Given the description of an element on the screen output the (x, y) to click on. 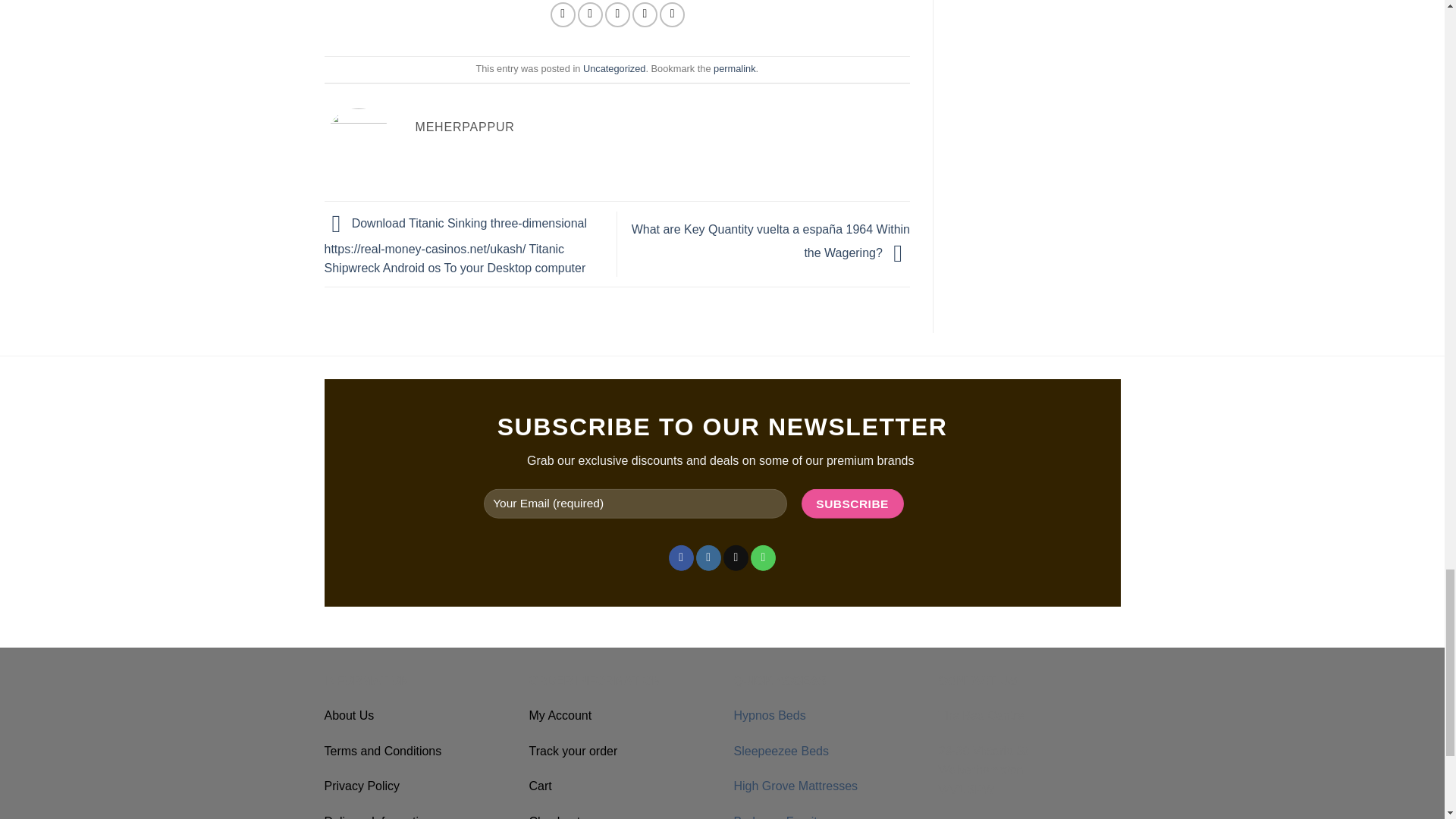
Subscribe (853, 503)
